Given the description of an element on the screen output the (x, y) to click on. 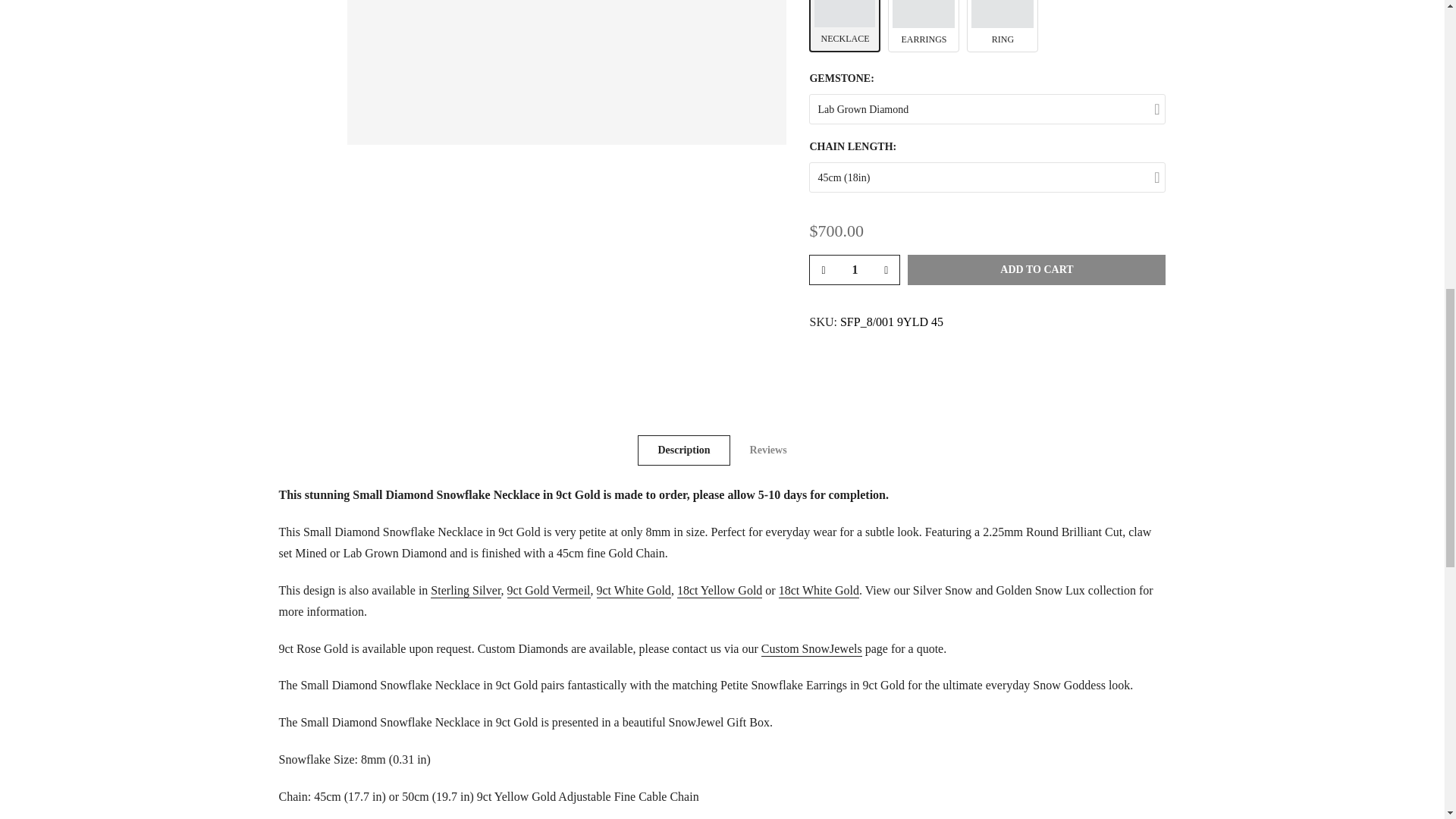
Small Diamond Snowflake Necklace in 9ct White Gold (633, 590)
Petite Diamond Snowflake Necklace in 18ct White Gold (818, 590)
1 (854, 269)
Petite Diamond Snowflake Necklace in 18ct Gold (719, 590)
Custom SnowJewels (811, 649)
